Given the description of an element on the screen output the (x, y) to click on. 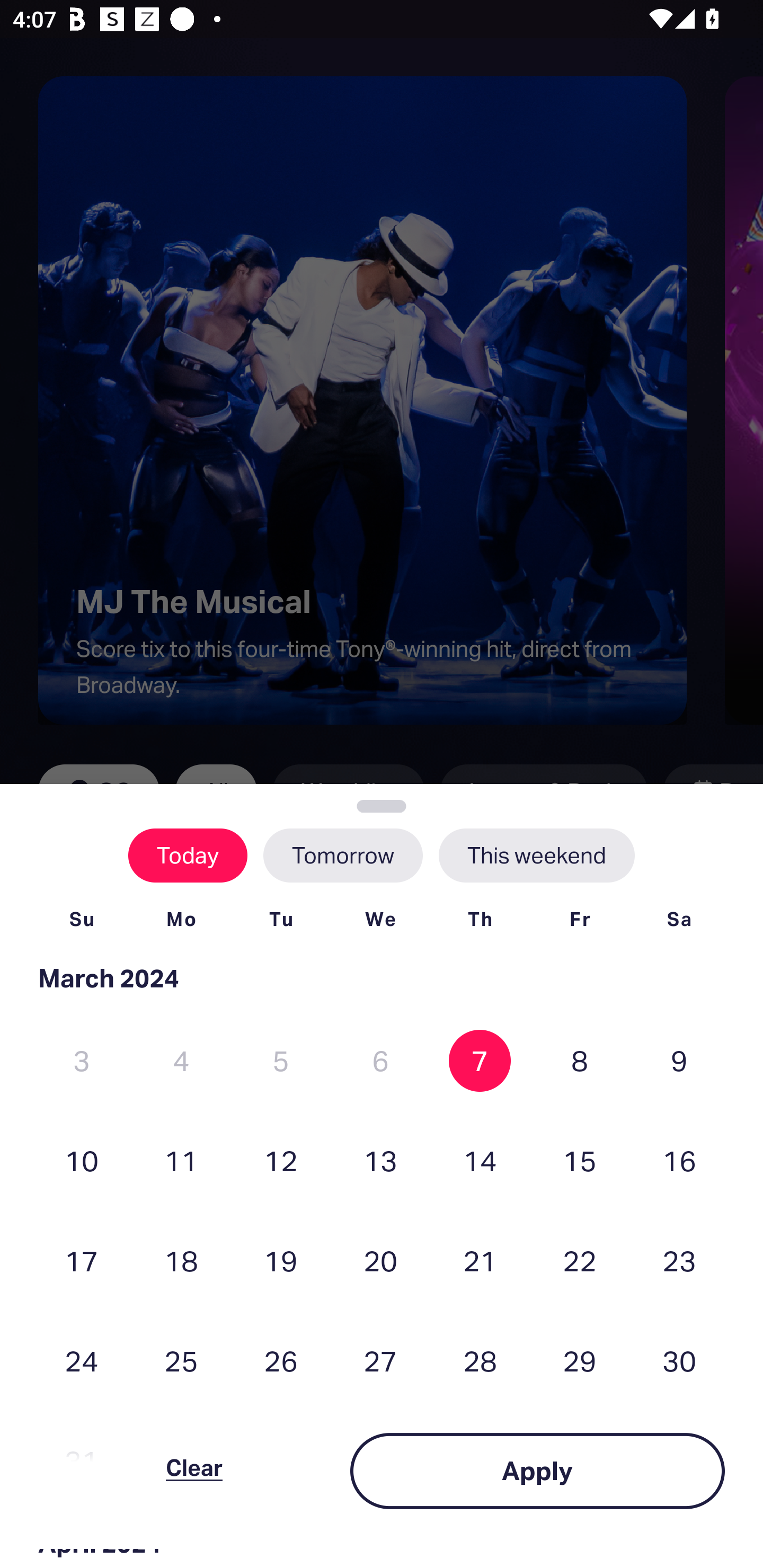
Today (187, 854)
Tomorrow (342, 854)
This weekend (536, 854)
3 (81, 1060)
4 (181, 1060)
5 (280, 1060)
6 (380, 1060)
7 (479, 1060)
8 (579, 1060)
9 (678, 1060)
10 (81, 1160)
11 (181, 1160)
12 (280, 1160)
13 (380, 1160)
14 (479, 1160)
15 (579, 1160)
16 (678, 1160)
17 (81, 1260)
18 (181, 1260)
19 (280, 1260)
20 (380, 1260)
21 (479, 1260)
22 (579, 1260)
23 (678, 1260)
24 (81, 1360)
25 (181, 1360)
26 (280, 1360)
27 (380, 1360)
28 (479, 1360)
29 (579, 1360)
30 (678, 1360)
Clear (194, 1470)
Apply (537, 1470)
